Given the description of an element on the screen output the (x, y) to click on. 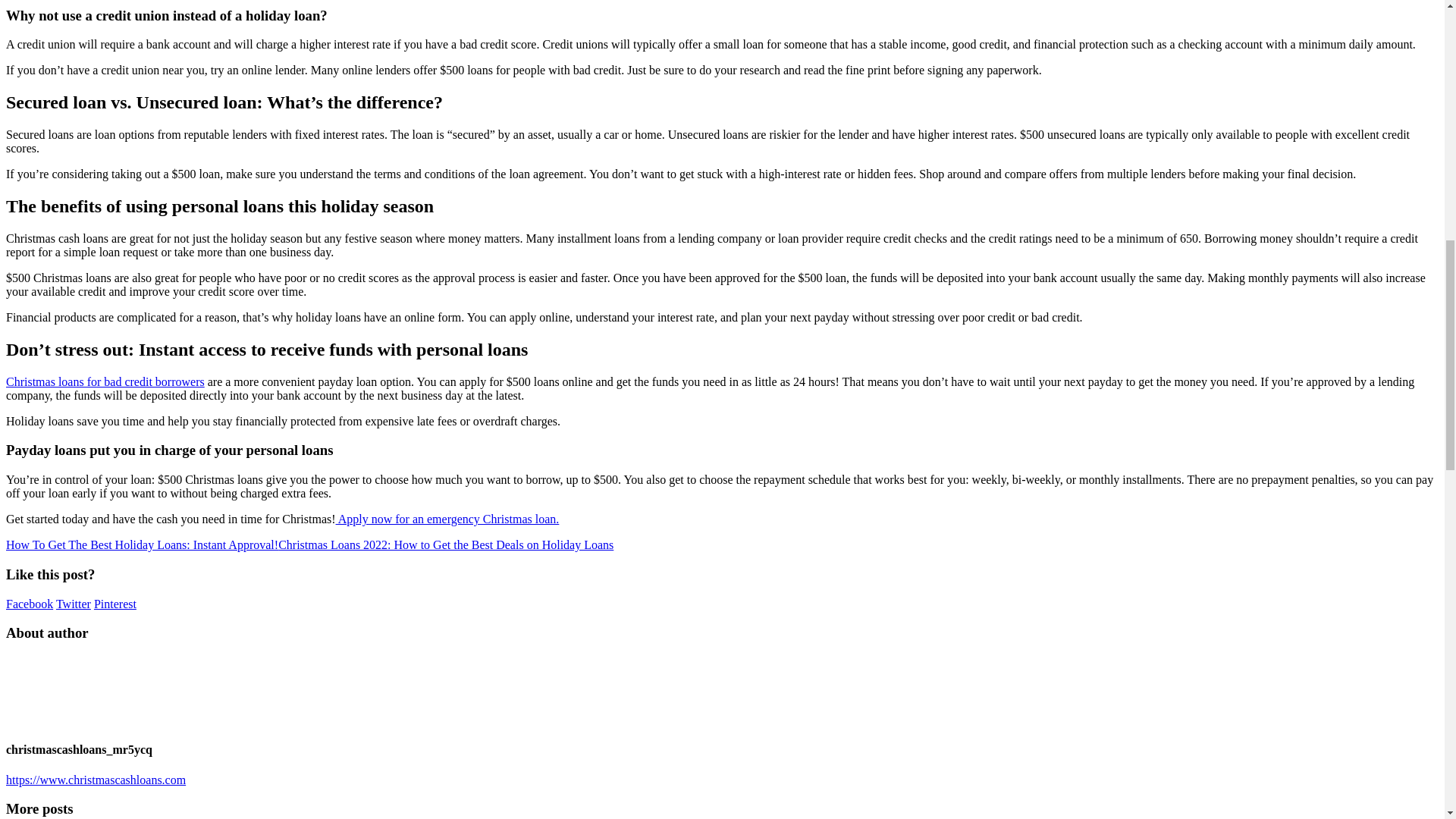
Twitter (73, 603)
Christmas loans for bad credit borrowers (105, 381)
Apply now for an emergency Christmas loan. (447, 518)
How To Get The Best Holiday Loans: Instant Approval! (141, 544)
Facebook (28, 603)
Pinterest (115, 603)
